Given the description of an element on the screen output the (x, y) to click on. 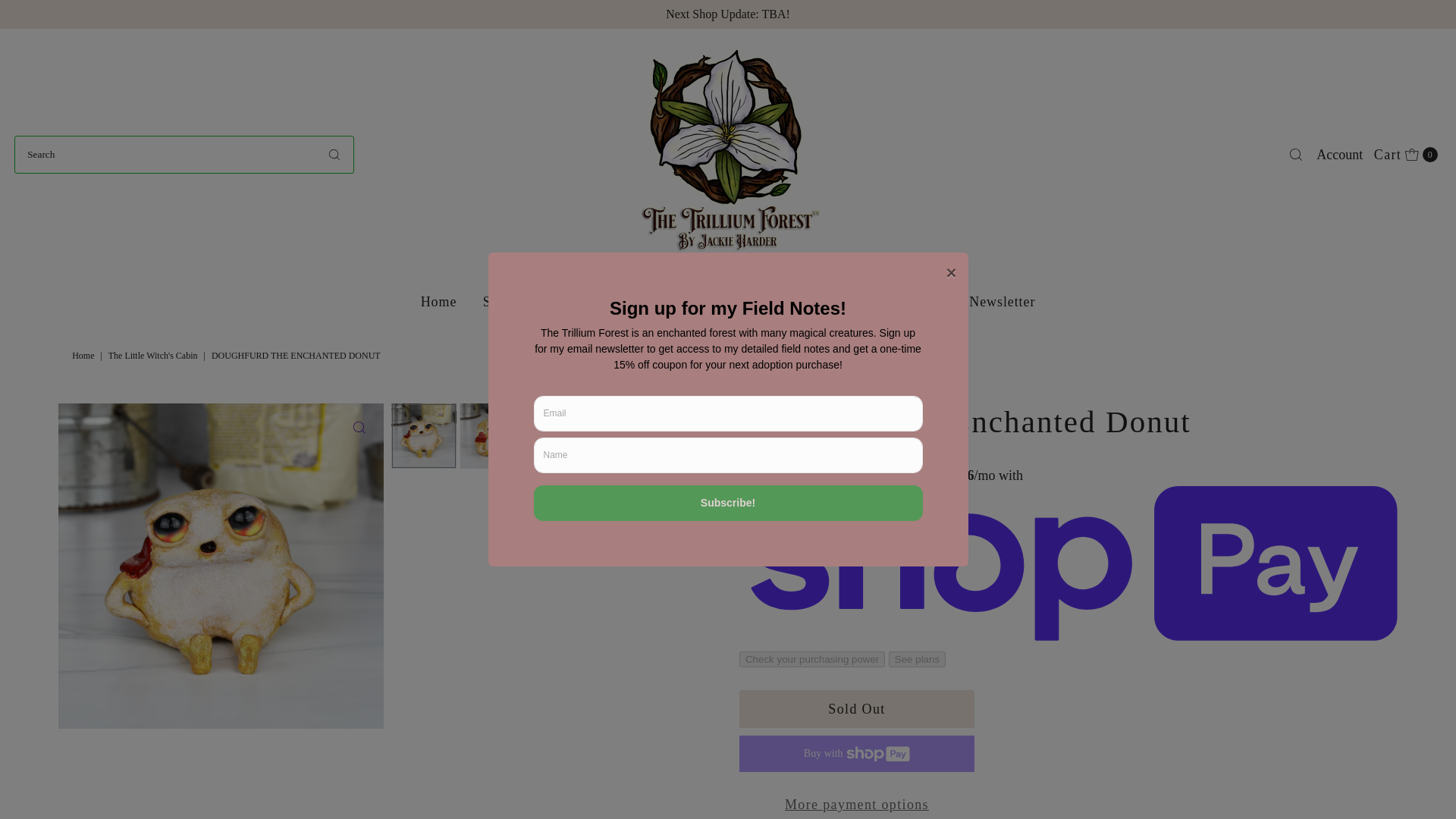
Discovery Box (1405, 153)
Youtube (585, 301)
Home (682, 301)
Field Guide (438, 301)
The Little Witch's Cabin (769, 301)
Account (154, 355)
About (1340, 153)
Sold Out (851, 301)
Home (856, 709)
Shop (84, 355)
Click to zoom (498, 301)
